Given the description of an element on the screen output the (x, y) to click on. 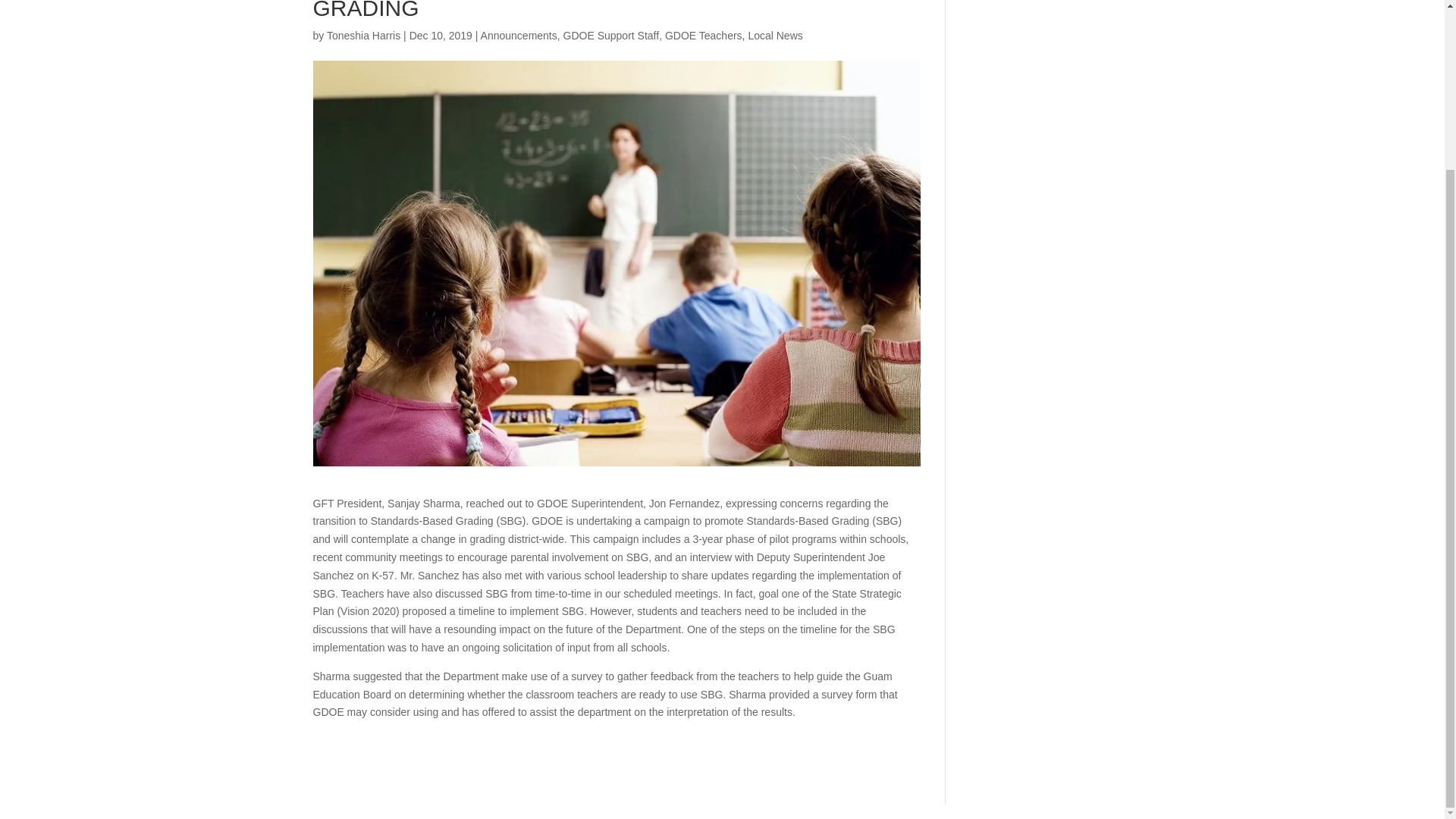
GDOE Teachers (703, 34)
Announcements (518, 34)
GDOE Support Staff (611, 34)
Posts by Toneshia Harris (363, 34)
Local News (775, 34)
Toneshia Harris (363, 34)
